Given the description of an element on the screen output the (x, y) to click on. 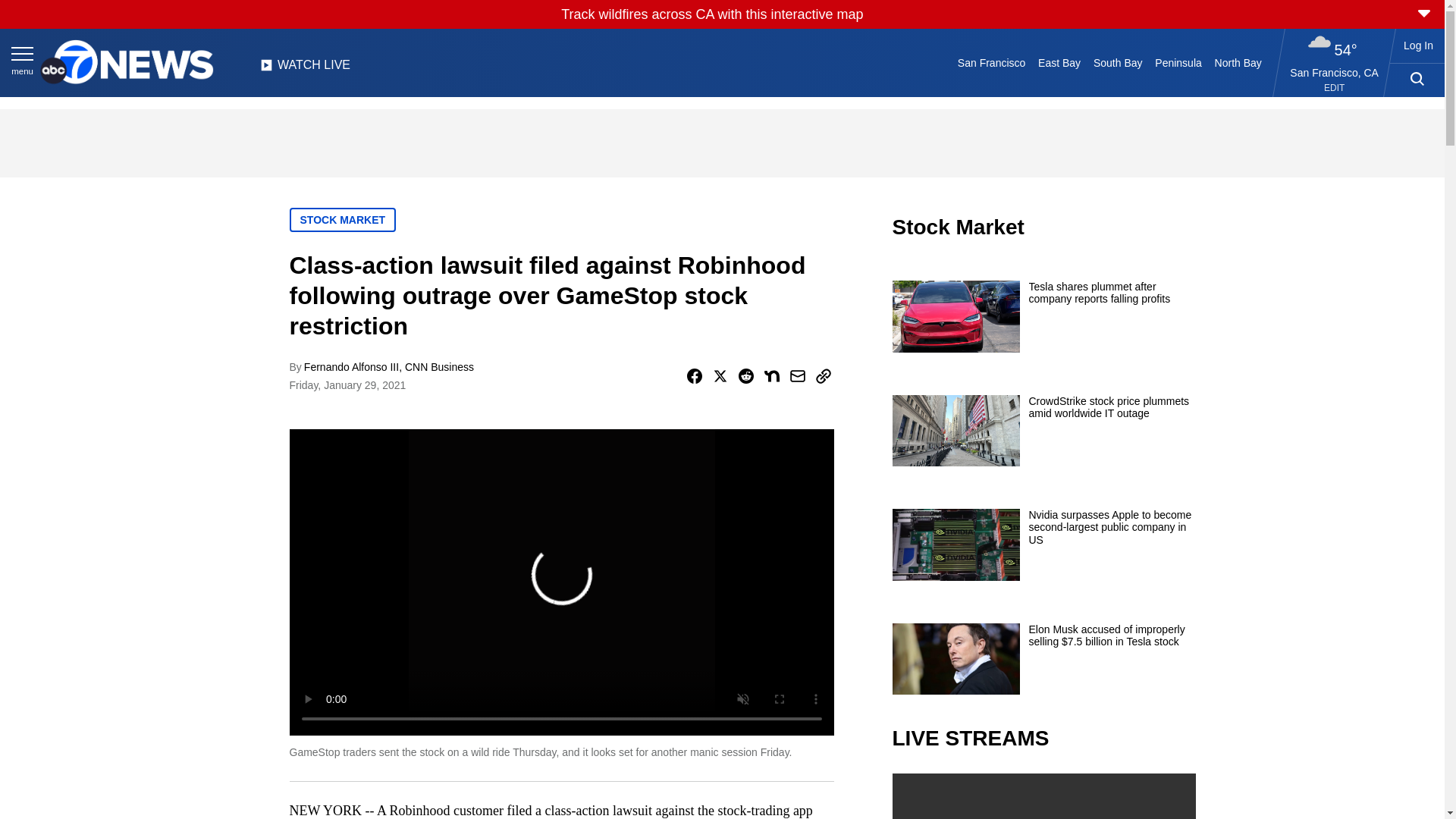
Peninsula (1178, 62)
San Francisco, CA (1334, 72)
video.title (1043, 796)
WATCH LIVE (305, 69)
East Bay (1059, 62)
North Bay (1238, 62)
South Bay (1117, 62)
San Francisco (990, 62)
EDIT (1333, 87)
